Given the description of an element on the screen output the (x, y) to click on. 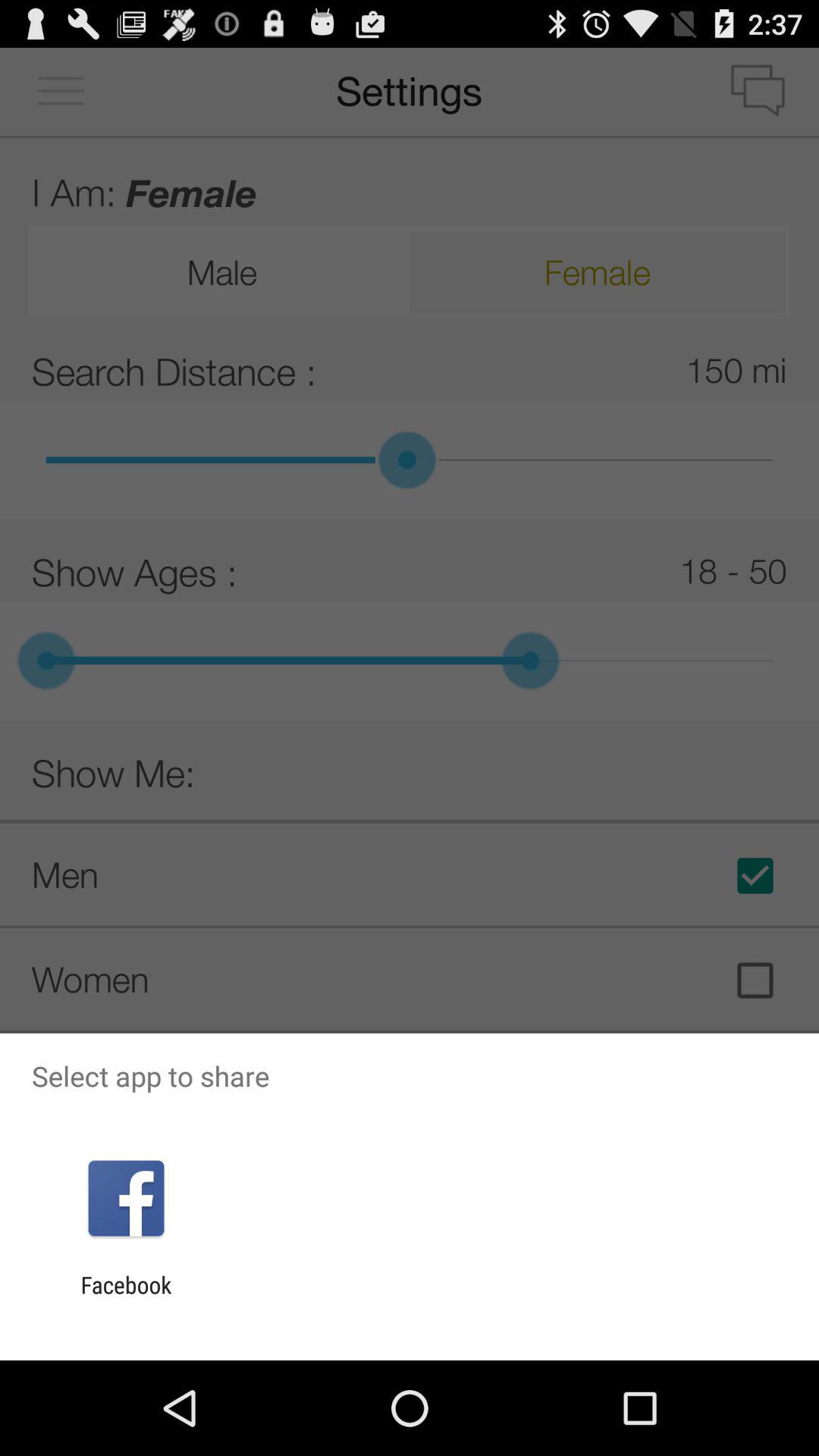
jump to facebook app (125, 1298)
